Given the description of an element on the screen output the (x, y) to click on. 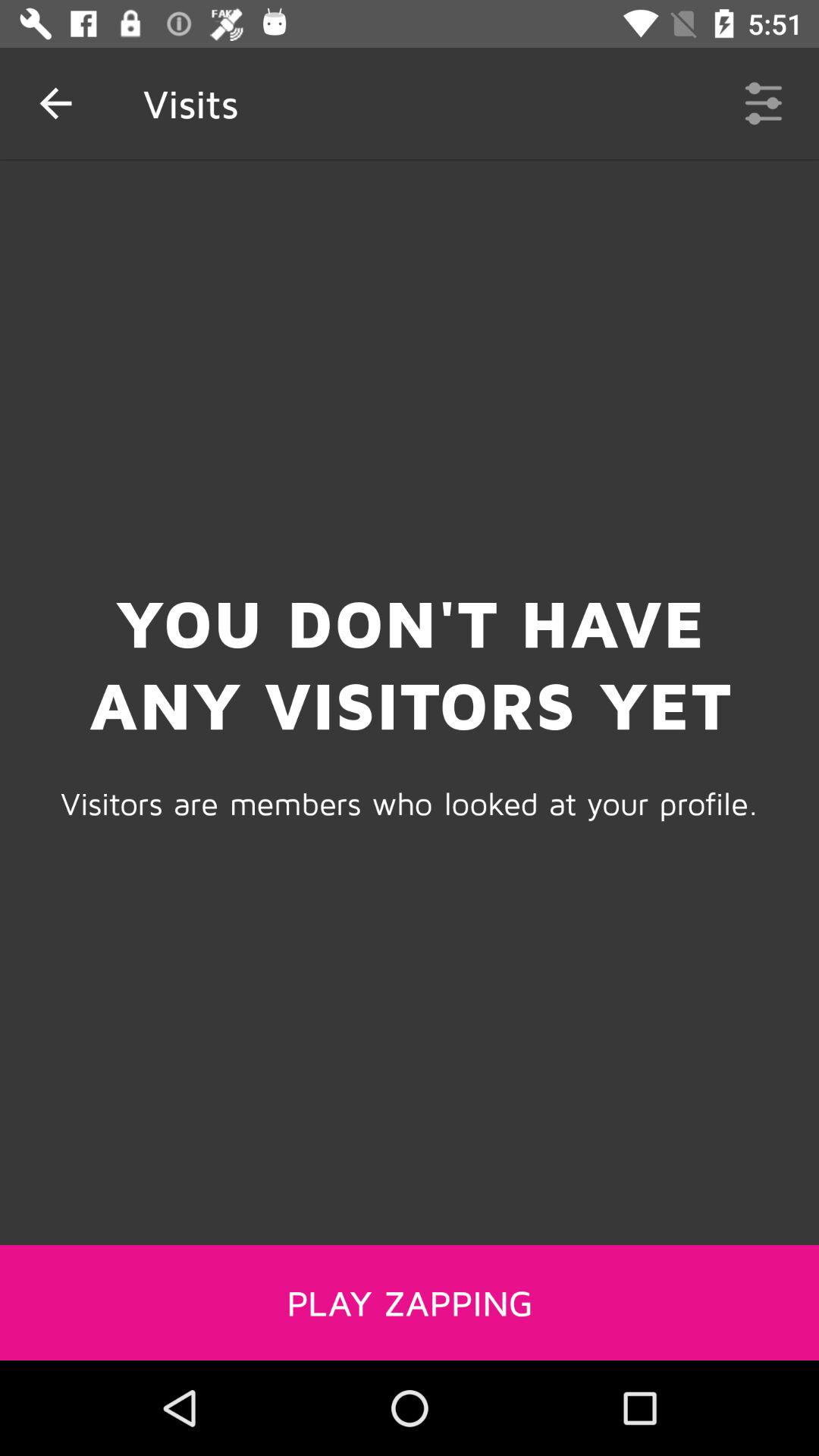
press the item next to visits icon (763, 103)
